Given the description of an element on the screen output the (x, y) to click on. 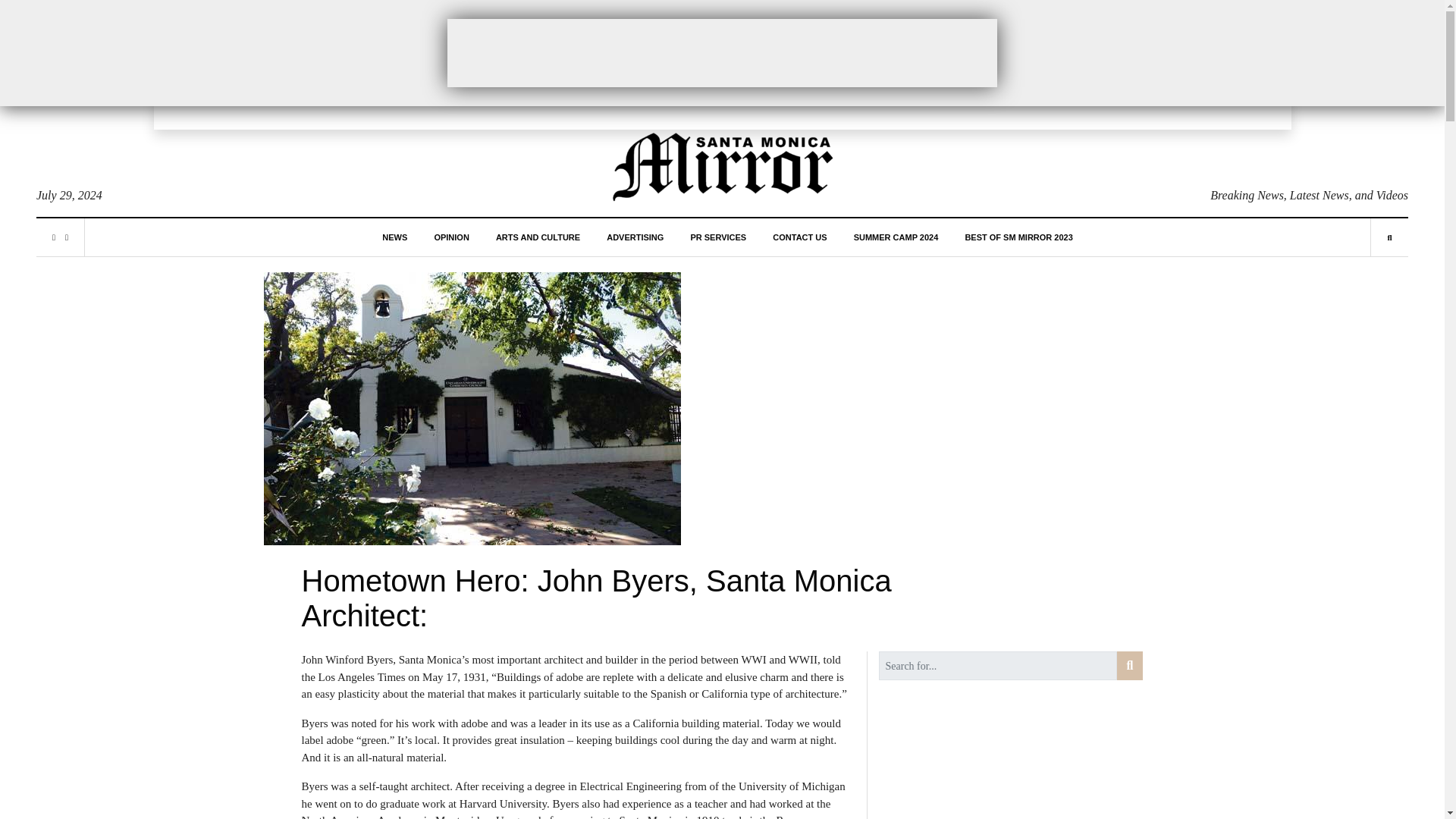
ADVERTISING (635, 237)
OPINION (450, 237)
ARTS AND CULTURE (537, 237)
3rd party ad content (721, 52)
BEST OF SM MIRROR 2023 (1017, 237)
SUMMER CAMP 2024 (896, 237)
PR SERVICES (717, 237)
CONTACT US (800, 237)
